Given the description of an element on the screen output the (x, y) to click on. 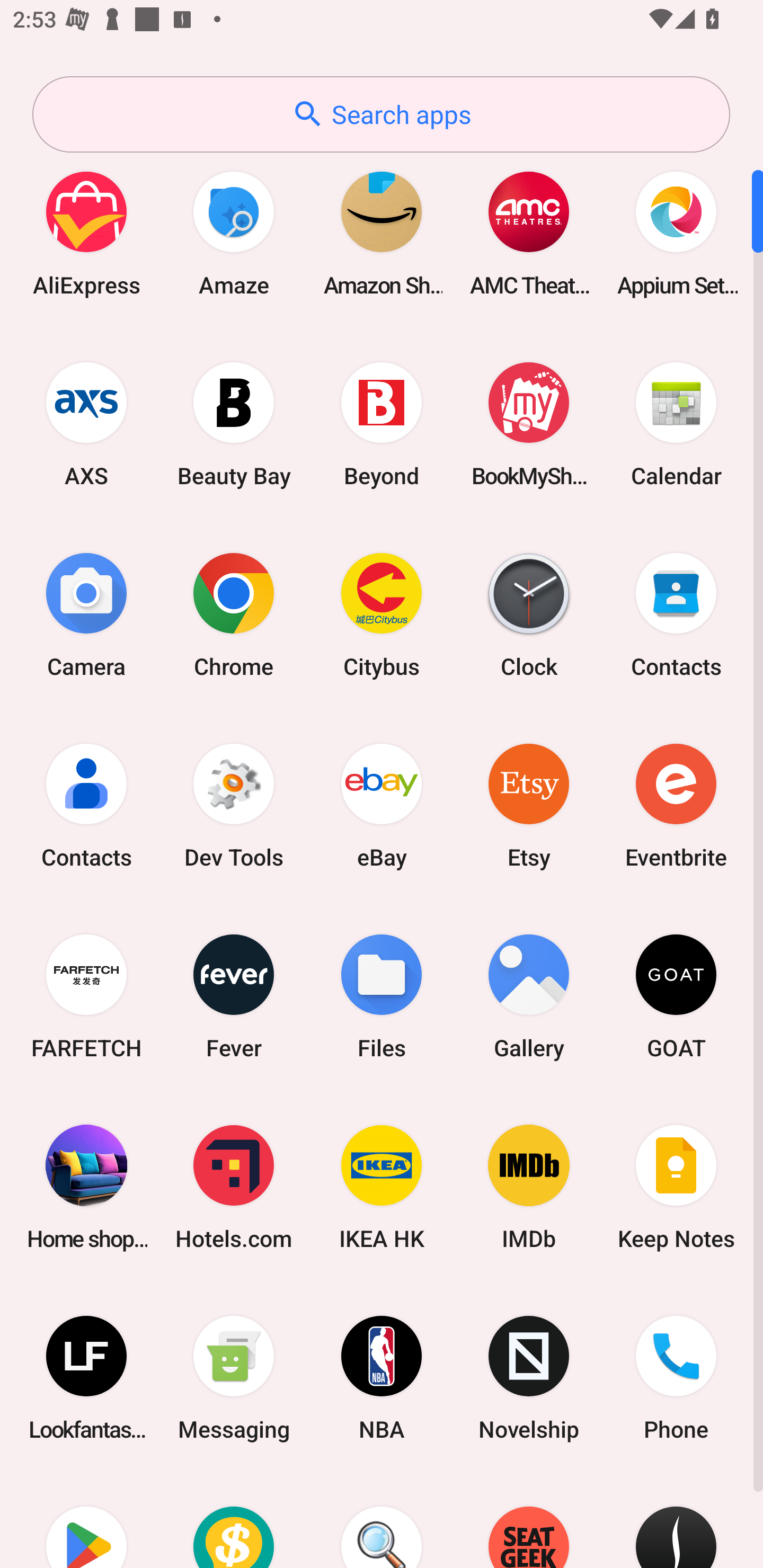
  Search apps (381, 114)
AliExpress (86, 233)
Amaze (233, 233)
Amazon Shopping (381, 233)
AMC Theatres (528, 233)
Appium Settings (676, 233)
AXS (86, 424)
Beauty Bay (233, 424)
Beyond (381, 424)
BookMyShow (528, 424)
Calendar (676, 424)
Camera (86, 614)
Chrome (233, 614)
Citybus (381, 614)
Clock (528, 614)
Contacts (676, 614)
Contacts (86, 805)
Dev Tools (233, 805)
eBay (381, 805)
Etsy (528, 805)
Eventbrite (676, 805)
FARFETCH (86, 996)
Fever (233, 996)
Files (381, 996)
Gallery (528, 996)
GOAT (676, 996)
Home shopping (86, 1186)
Hotels.com (233, 1186)
IKEA HK (381, 1186)
IMDb (528, 1186)
Keep Notes (676, 1186)
Lookfantastic (86, 1377)
Messaging (233, 1377)
NBA (381, 1377)
Novelship (528, 1377)
Phone (676, 1377)
Play Store (86, 1520)
Price (233, 1520)
Search (381, 1520)
SeatGeek (528, 1520)
Sephora (676, 1520)
